Given the description of an element on the screen output the (x, y) to click on. 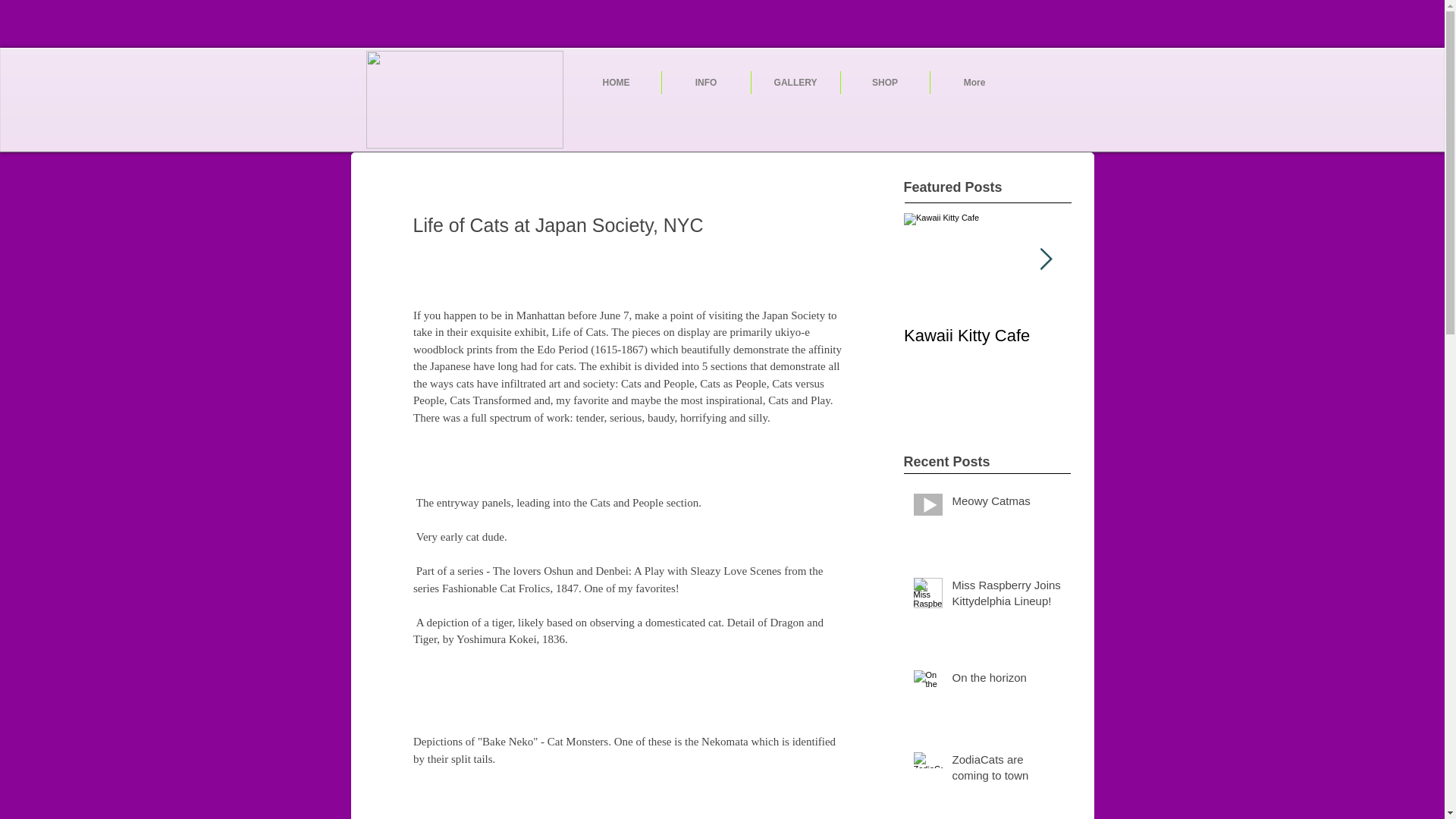
HOME (616, 82)
ZodiaCats are coming to town (1006, 770)
Meowy Catmas (1006, 504)
On the horizon (1006, 680)
SHOP (884, 82)
Kawaii Kitty Cafe (987, 335)
Miss Raspberry Joins Kittydelphia Lineup! (1006, 596)
GALLERY (795, 82)
INFO (705, 82)
CatConLA Recap (1153, 335)
